Given the description of an element on the screen output the (x, y) to click on. 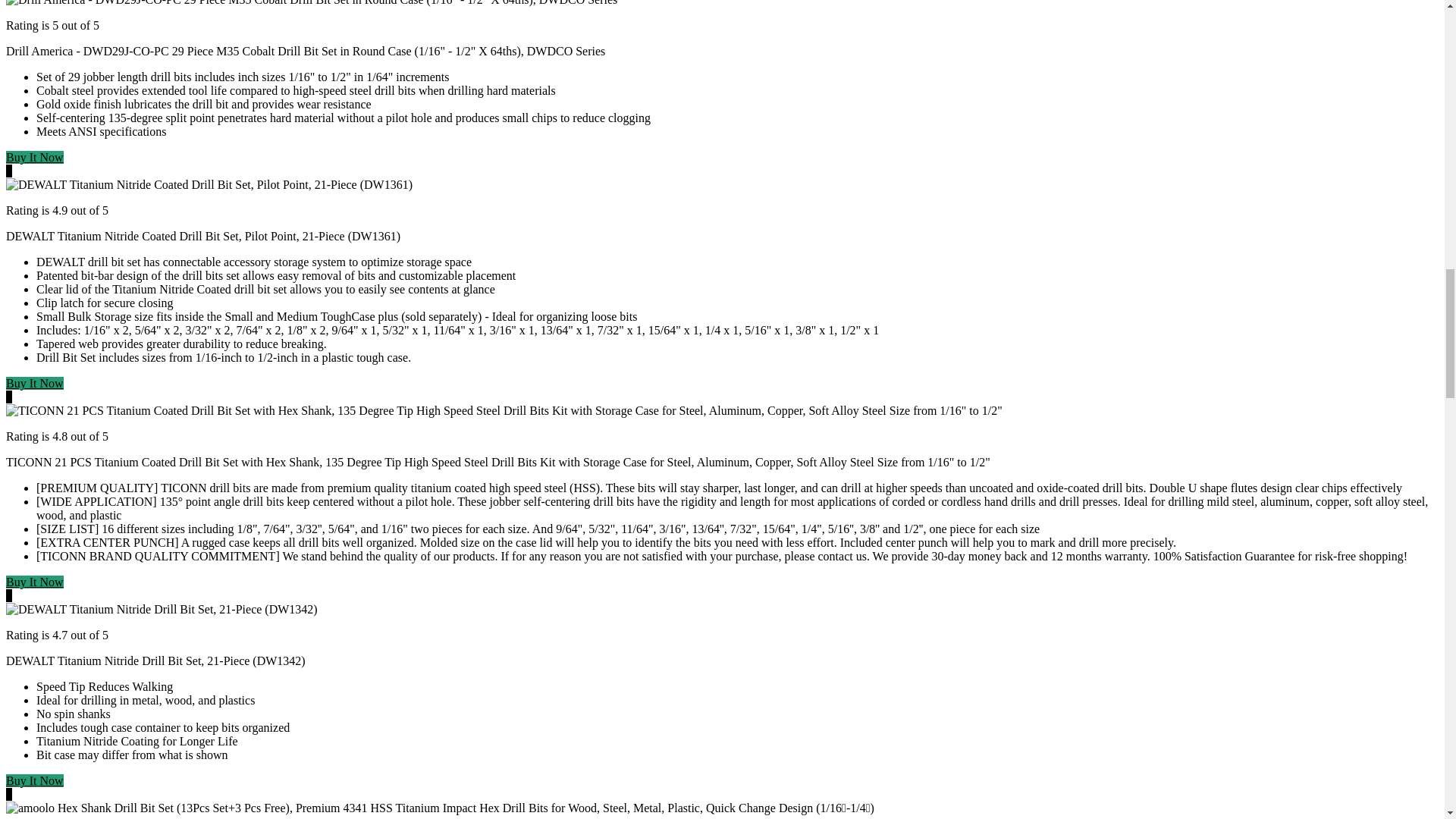
Buy It Now (34, 581)
Buy It Now (34, 156)
Buy It Now (34, 382)
